Given the description of an element on the screen output the (x, y) to click on. 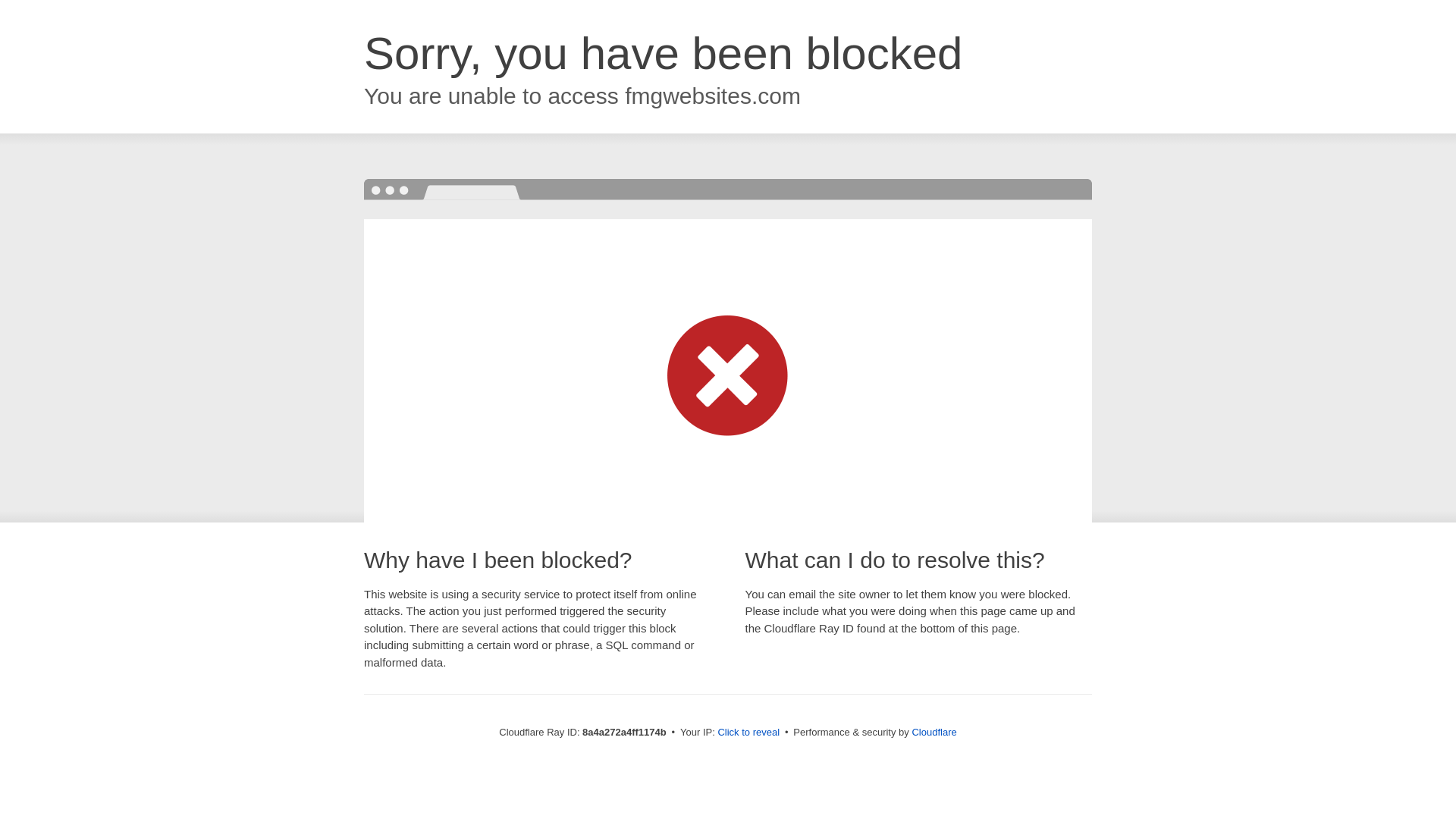
Cloudflare (933, 731)
Click to reveal (747, 732)
